Given the description of an element on the screen output the (x, y) to click on. 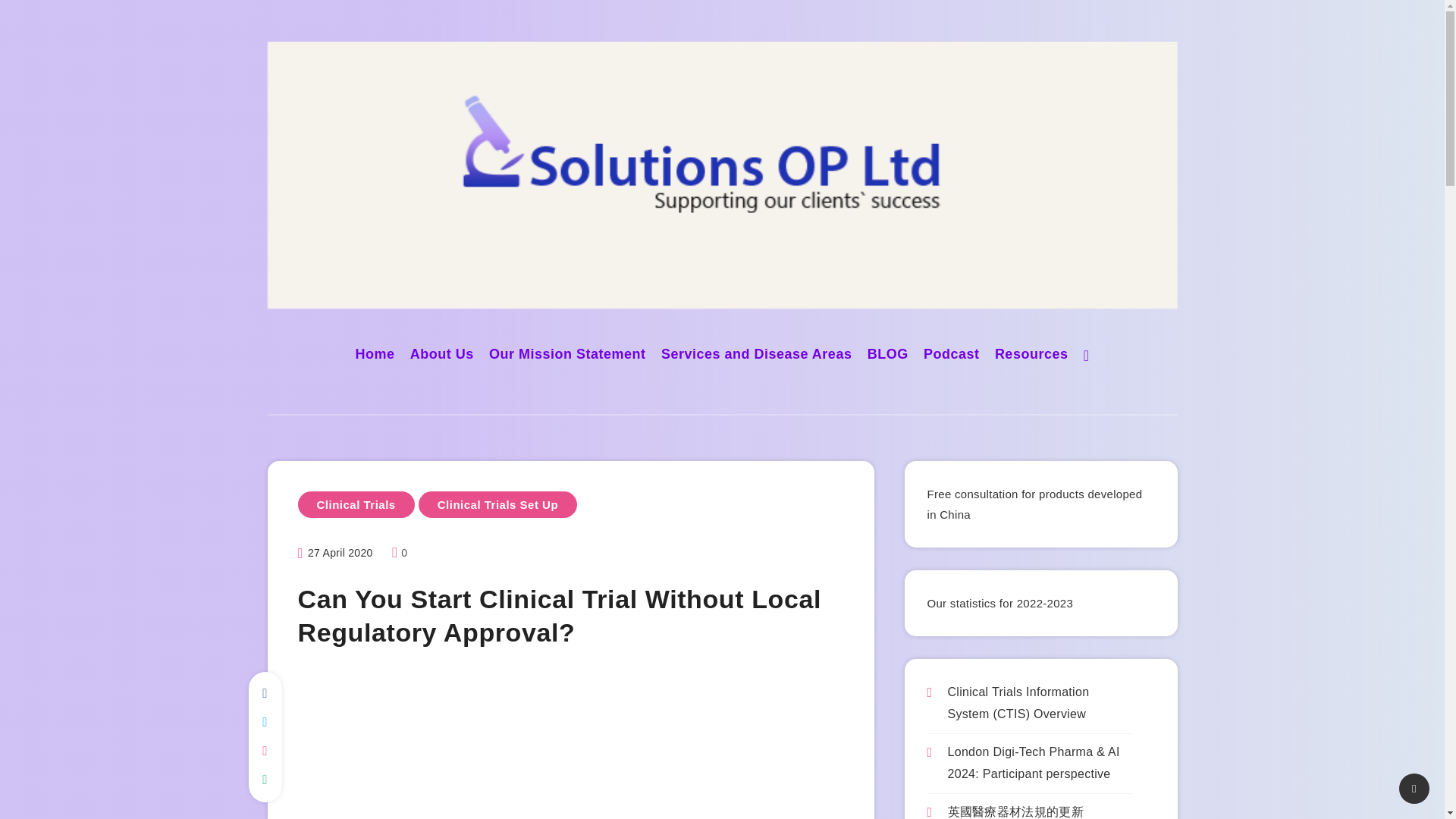
Go to comments (399, 552)
Free consultation for products developed in China (1033, 503)
Resources (1031, 355)
BLOG (887, 355)
Our Mission Statement (567, 355)
Podcast (951, 355)
0 (399, 552)
Our statistics for 2022-2023 (999, 603)
About Us (442, 355)
Home (374, 355)
